Given the description of an element on the screen output the (x, y) to click on. 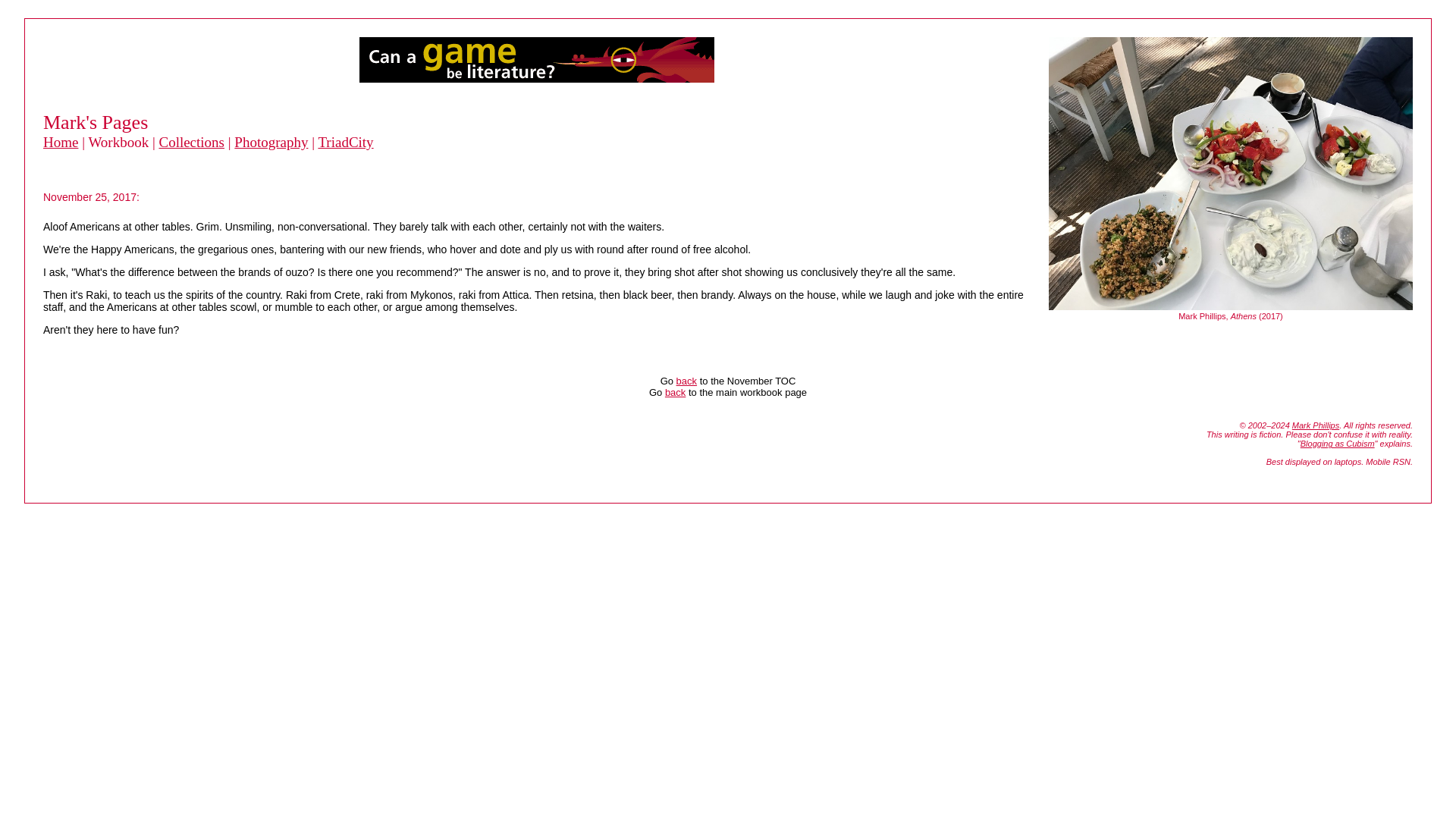
Blogging as Cubism (1337, 442)
Mark Phillips (1315, 424)
Home (60, 141)
Photography (270, 141)
back (675, 392)
TriadCity (344, 141)
Collections (191, 141)
back (687, 380)
